Given the description of an element on the screen output the (x, y) to click on. 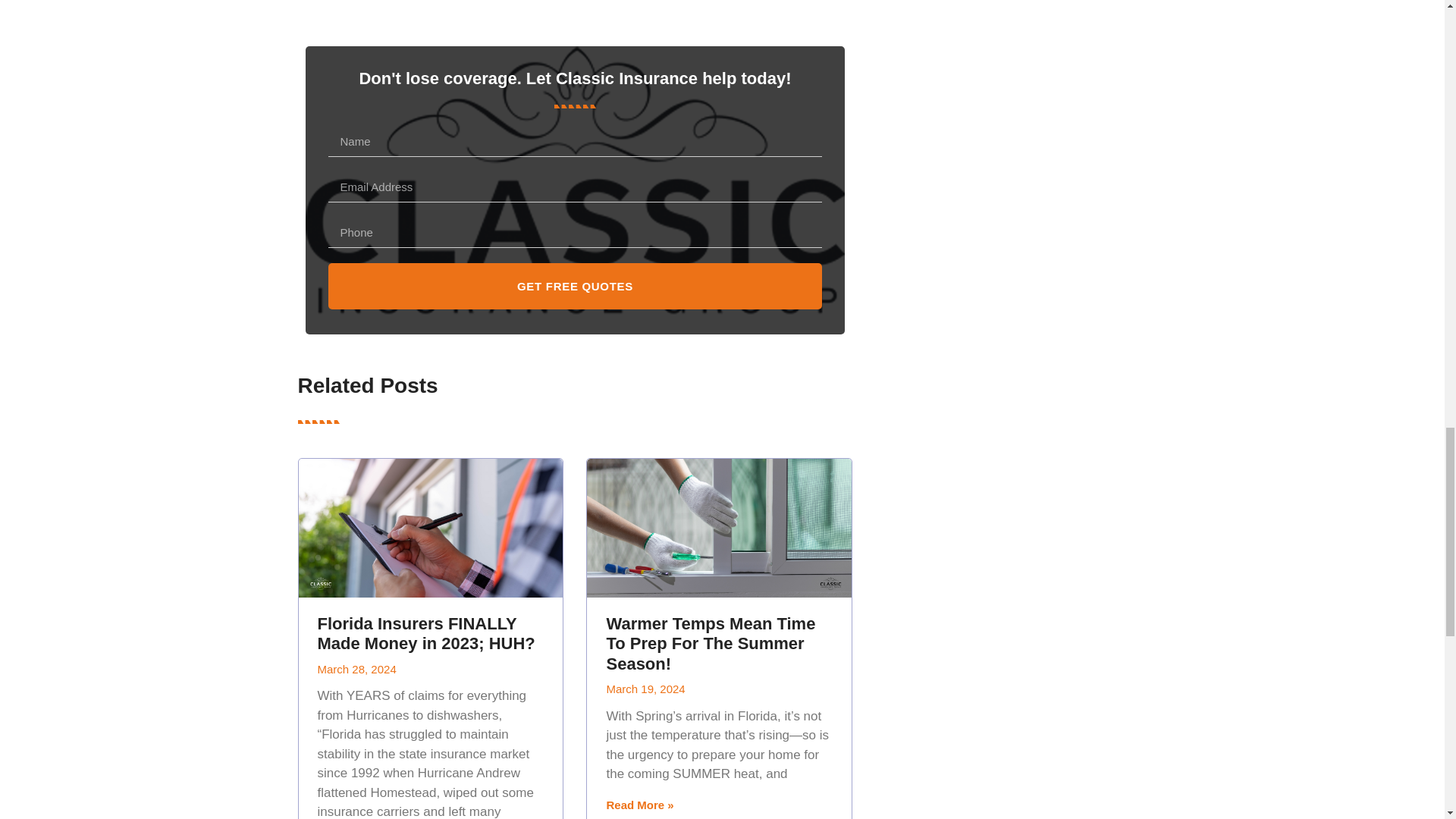
GET FREE QUOTES (574, 285)
Warmer Temps Mean Time To Prep For The Summer Season! (710, 643)
Florida Insurers FINALLY Made Money in 2023; HUH? (425, 633)
